Given the description of an element on the screen output the (x, y) to click on. 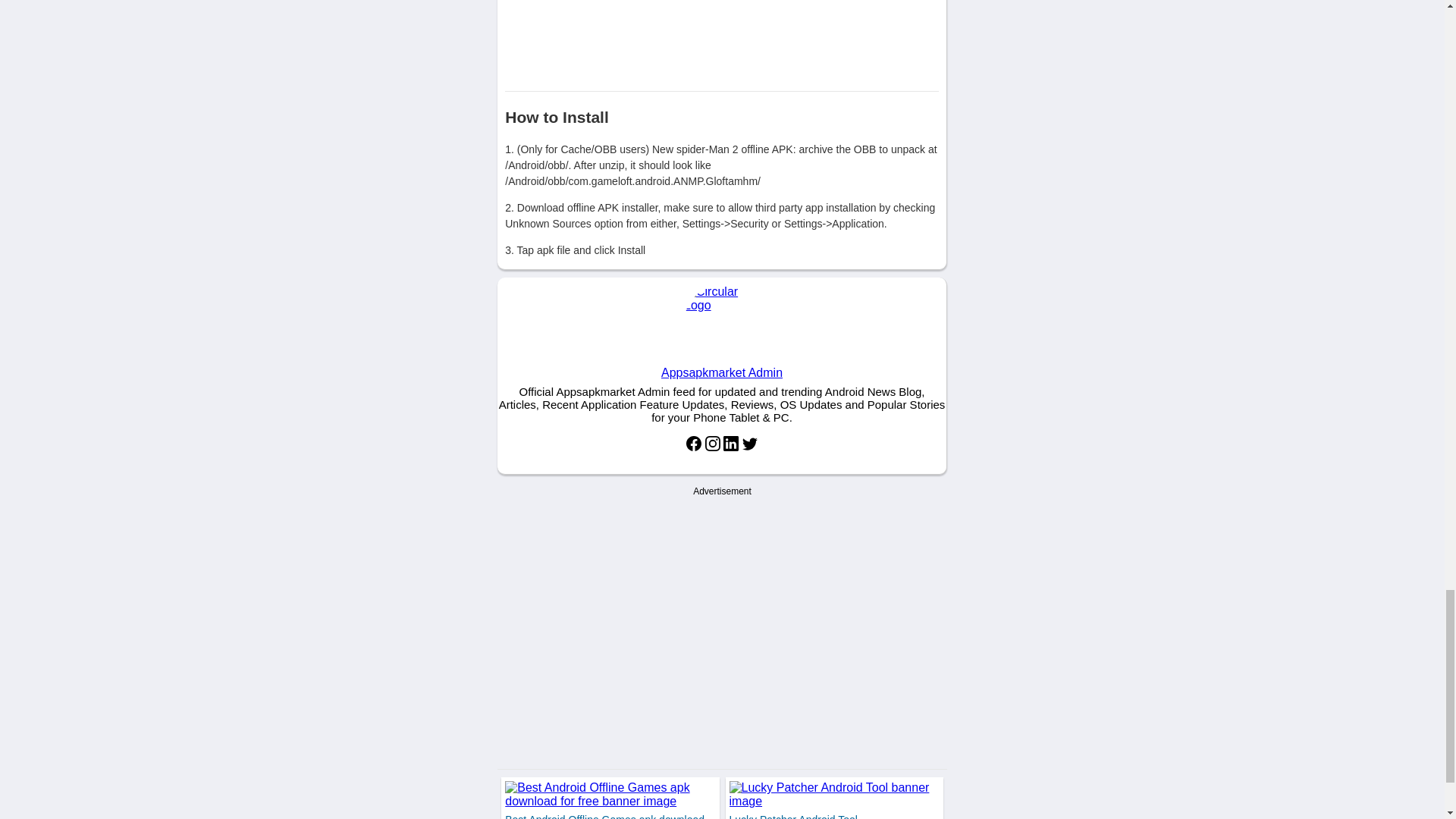
Appsapkmarket Admin (721, 334)
Lucky Patcher Android Tool (793, 816)
